Given the description of an element on the screen output the (x, y) to click on. 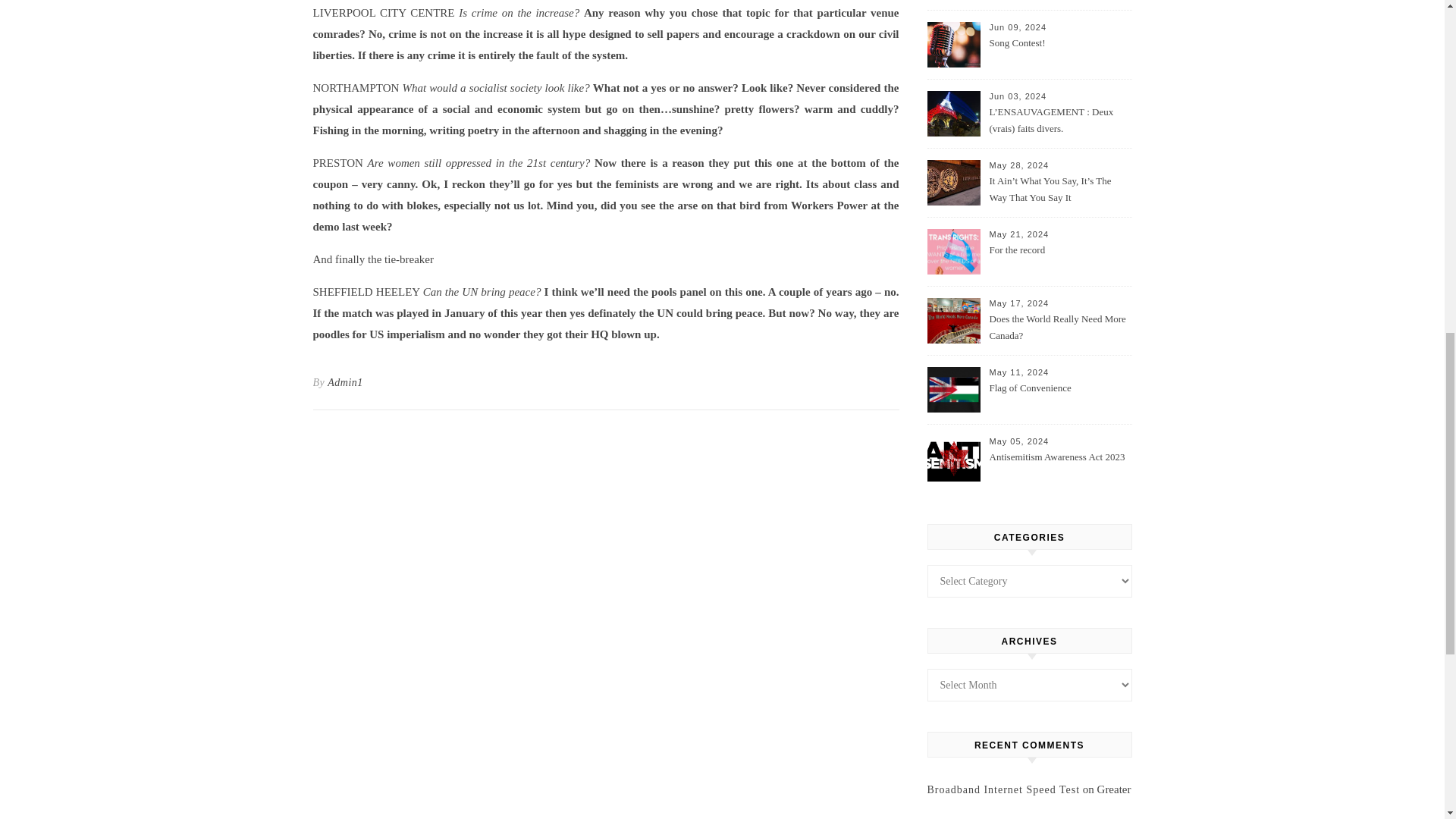
For the record (1058, 258)
Song Contest! (1058, 52)
Antisemitism Awareness Act 2023 (1058, 466)
Broadband Internet Speed Test (1003, 789)
Admin1 (344, 382)
Does the World Really Need More Canada? (1058, 328)
Greater and Lesser Jihad (1028, 800)
Flag of Convenience (1058, 397)
Posts by Admin1 (344, 382)
